Given the description of an element on the screen output the (x, y) to click on. 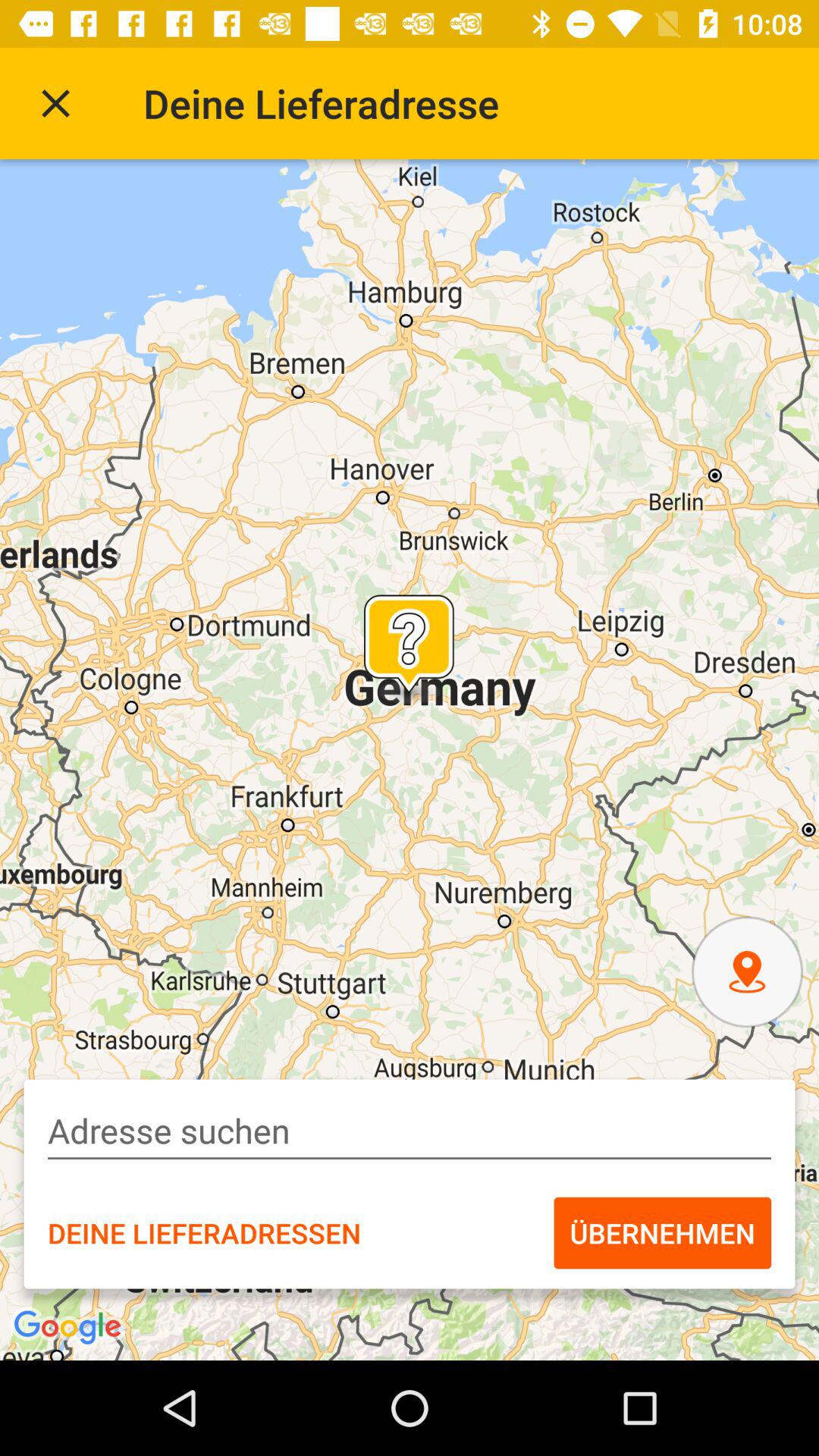
shows adders suchen (409, 1131)
